Given the description of an element on the screen output the (x, y) to click on. 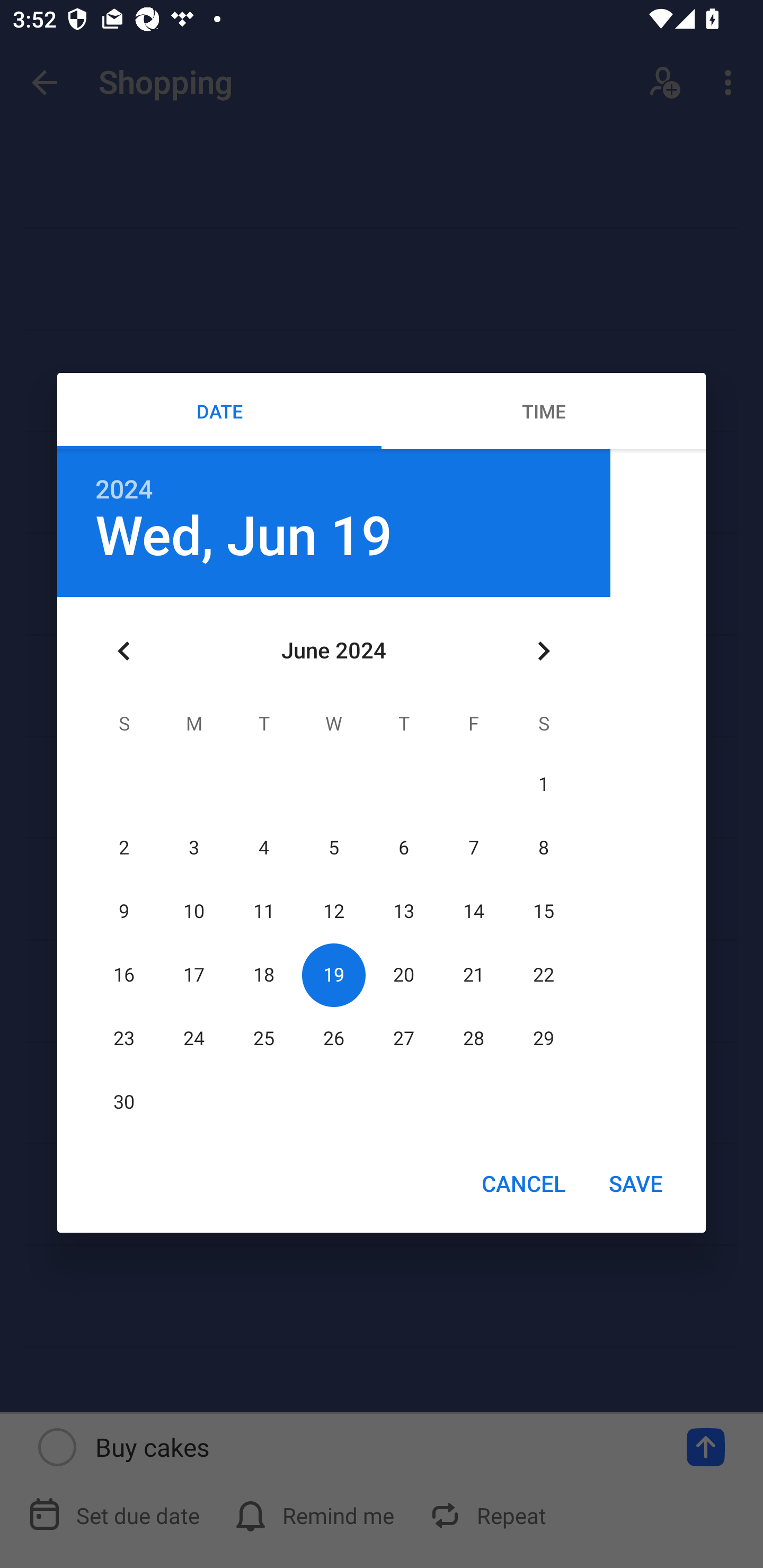
21 21 June 2024 (473, 974)
